Given the description of an element on the screen output the (x, y) to click on. 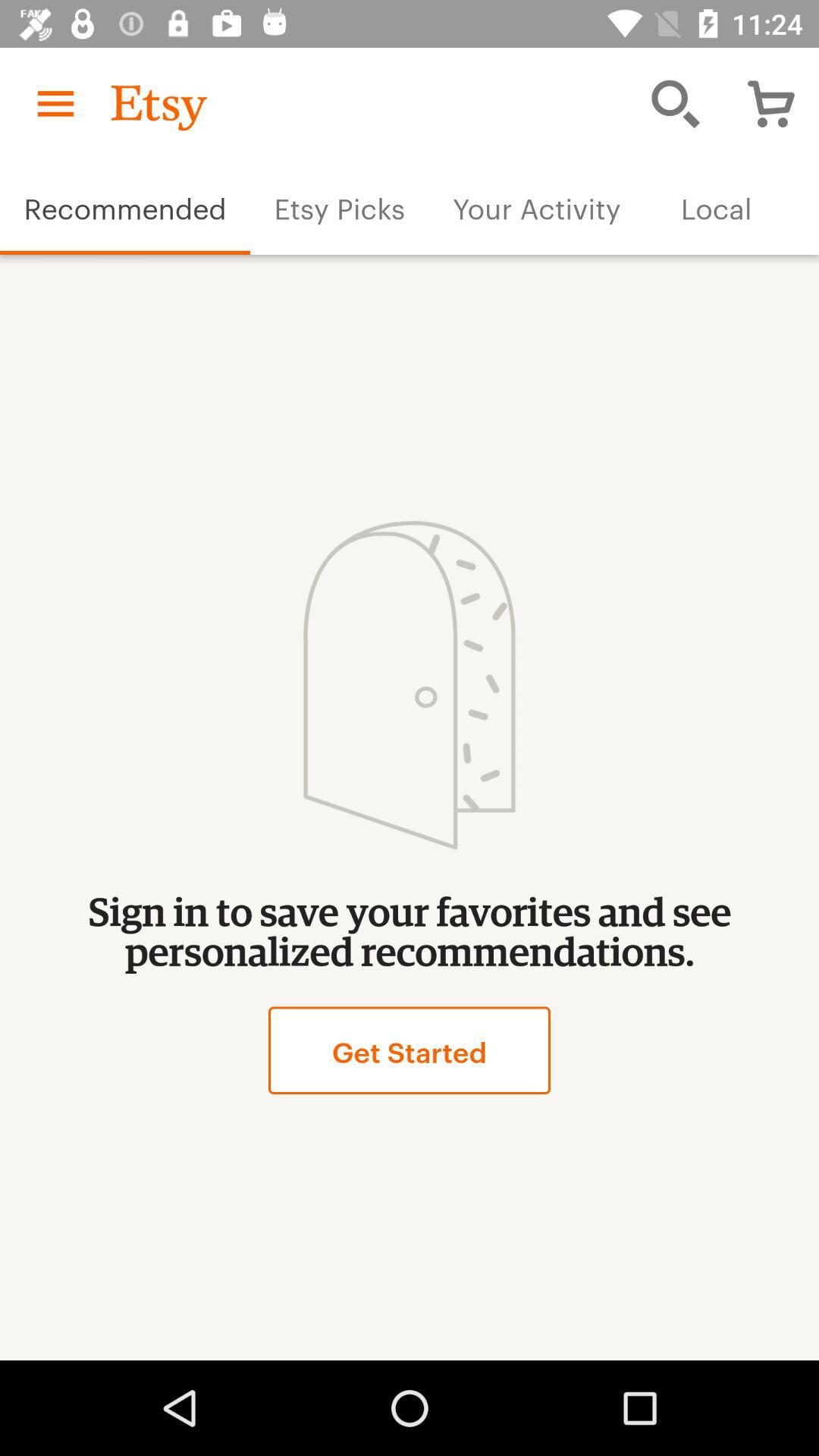
jump to get started icon (409, 1050)
